Given the description of an element on the screen output the (x, y) to click on. 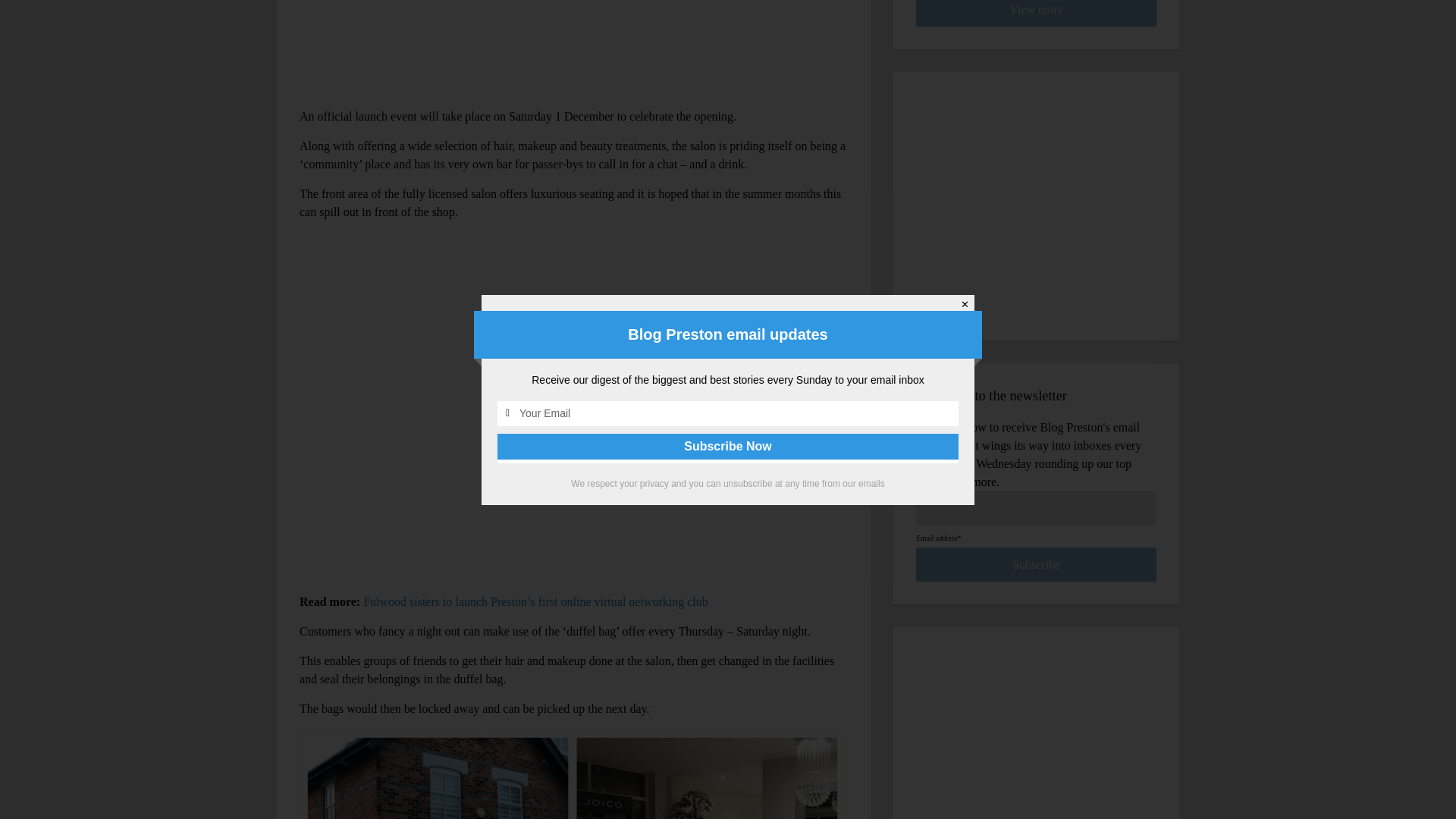
View more (1035, 13)
